Given the description of an element on the screen output the (x, y) to click on. 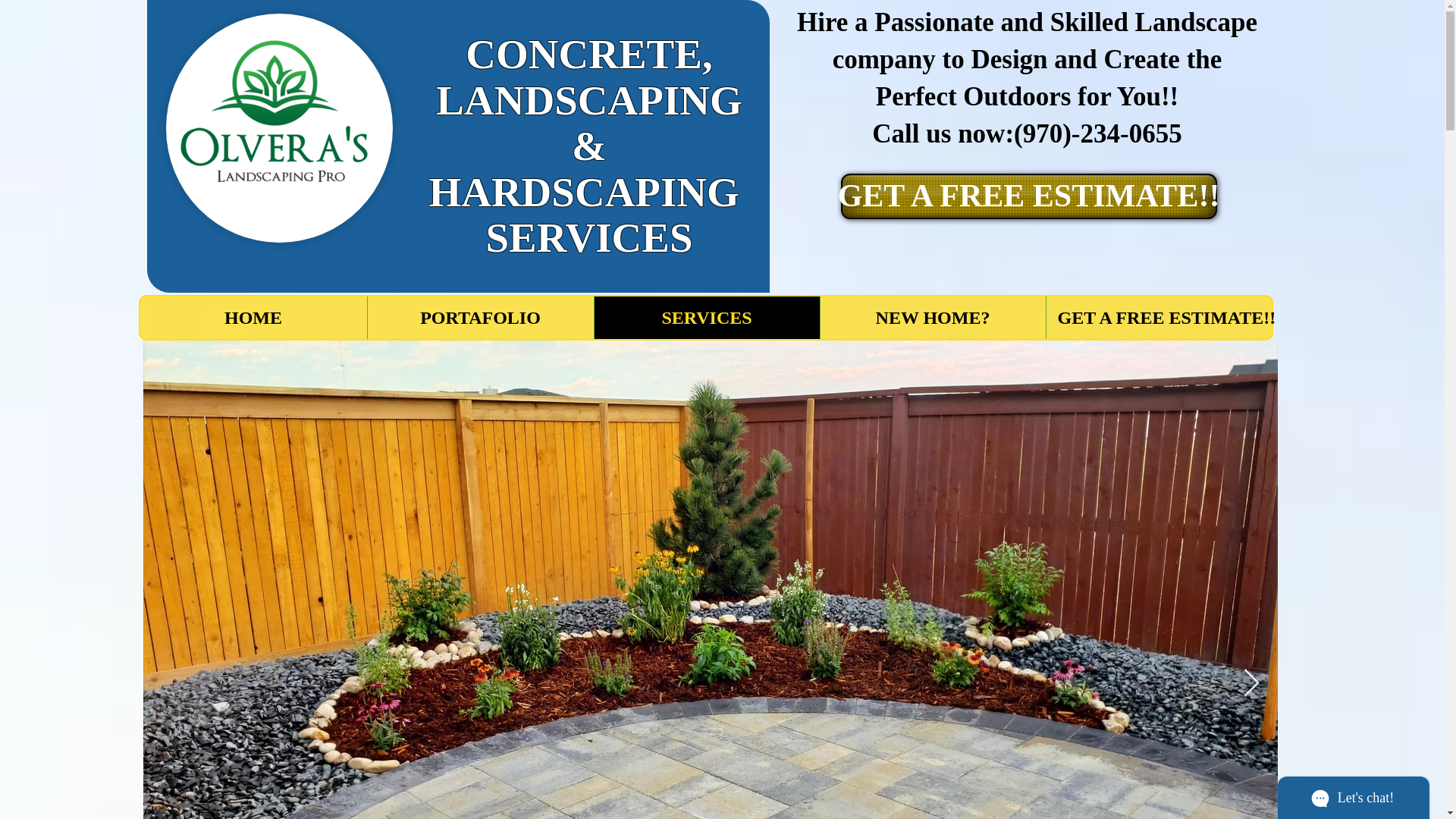
GET A FREE ESTIMATE!! (1158, 316)
SERVICES (705, 316)
PORTAFOLIO (480, 316)
NEW HOME? (931, 316)
GET A FREE ESTIMATE!! (1027, 196)
HOME (252, 316)
